Given the description of an element on the screen output the (x, y) to click on. 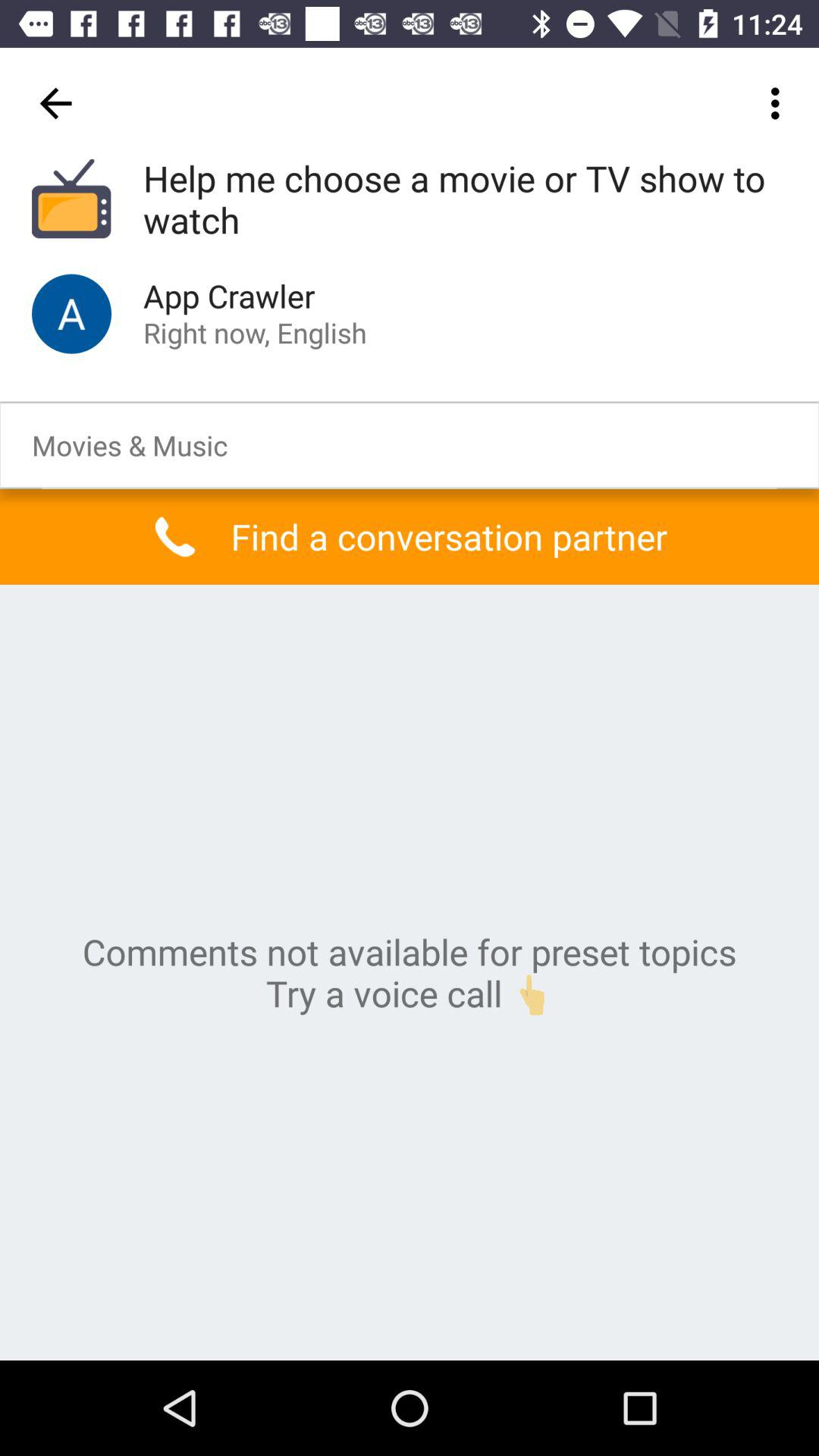
find a random user (71, 313)
